Given the description of an element on the screen output the (x, y) to click on. 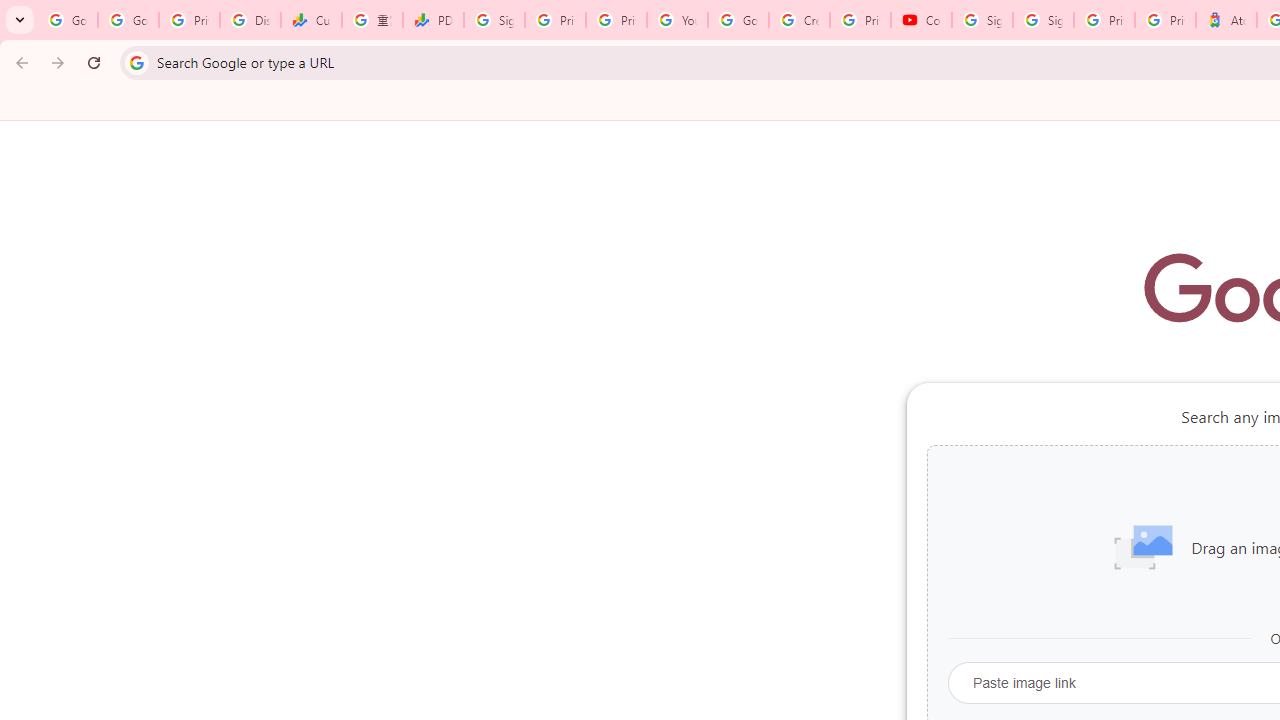
Privacy Checkup (616, 20)
Content Creator Programs & Opportunities - YouTube Creators (921, 20)
Sign in - Google Accounts (1042, 20)
Currencies - Google Finance (310, 20)
PDD Holdings Inc - ADR (PDD) Price & News - Google Finance (433, 20)
YouTube (676, 20)
Atour Hotel - Google hotels (1225, 20)
